Given the description of an element on the screen output the (x, y) to click on. 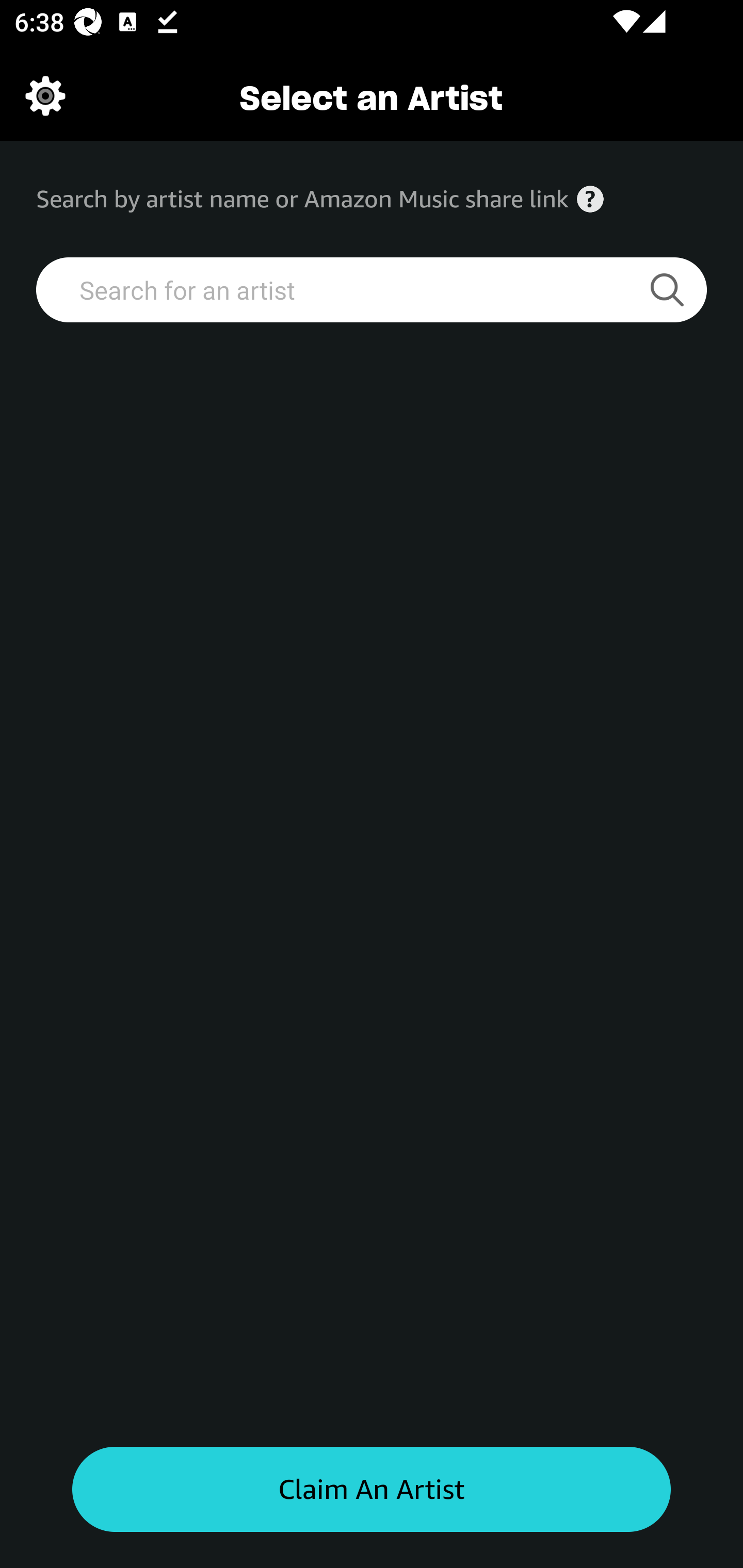
Help  icon (589, 199)
Claim an artist button Claim An Artist (371, 1489)
